Given the description of an element on the screen output the (x, y) to click on. 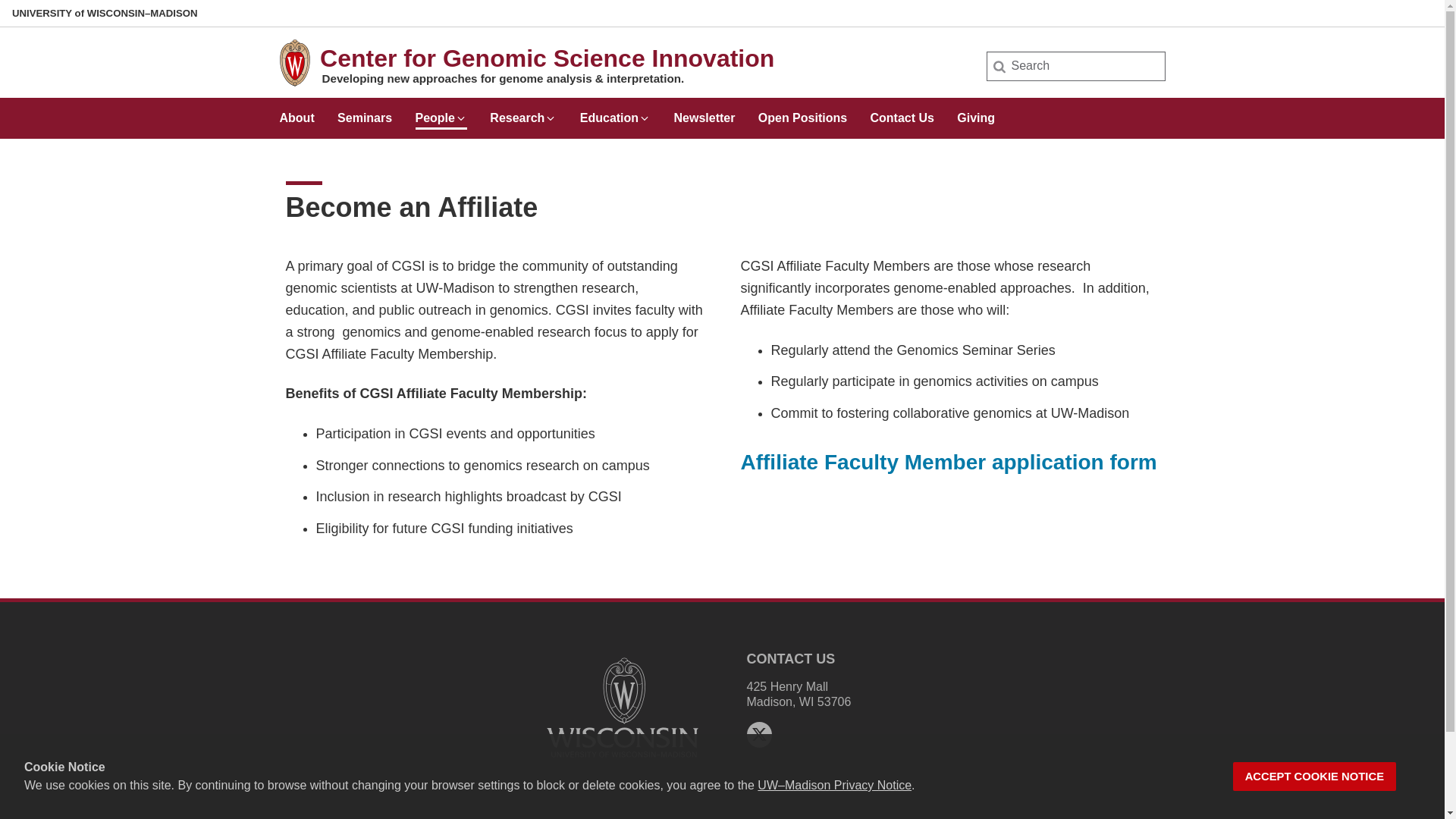
ACCEPT COOKIE NOTICE (1314, 776)
Expand (550, 118)
People Expand (440, 112)
Expand (460, 118)
Skip to main content (3, 3)
Search (37, 16)
University logo that links to main university website (621, 759)
x twitter (759, 734)
Research Expand (522, 112)
University logo that links to main university website (621, 707)
